Given the description of an element on the screen output the (x, y) to click on. 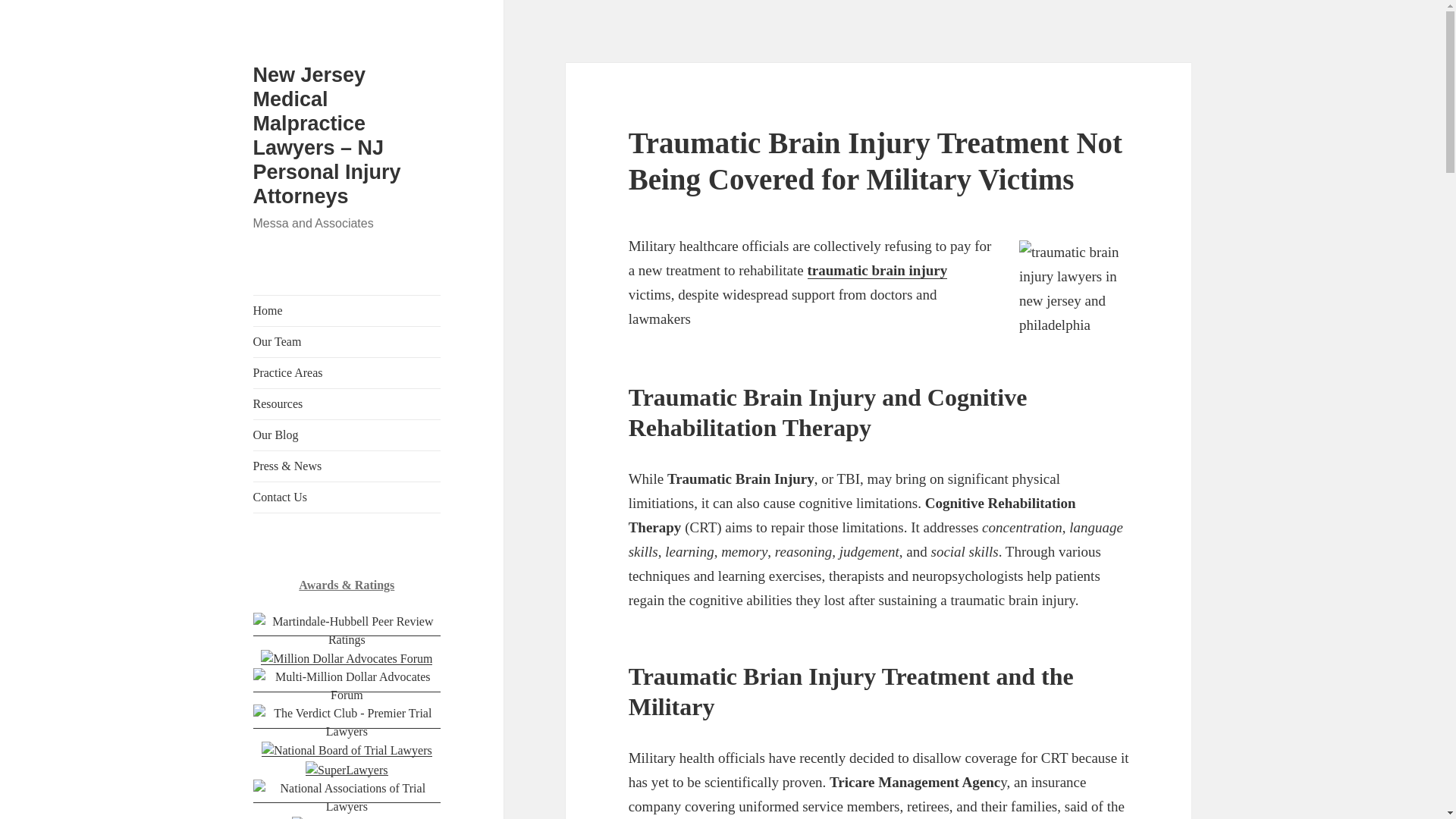
Home (347, 310)
Practice Areas (347, 372)
New Jersey Philadelphia Attorneys: Traumatic Brain Injury (876, 270)
Our Team (347, 341)
traumatic brain injury crt (1074, 298)
